Given the description of an element on the screen output the (x, y) to click on. 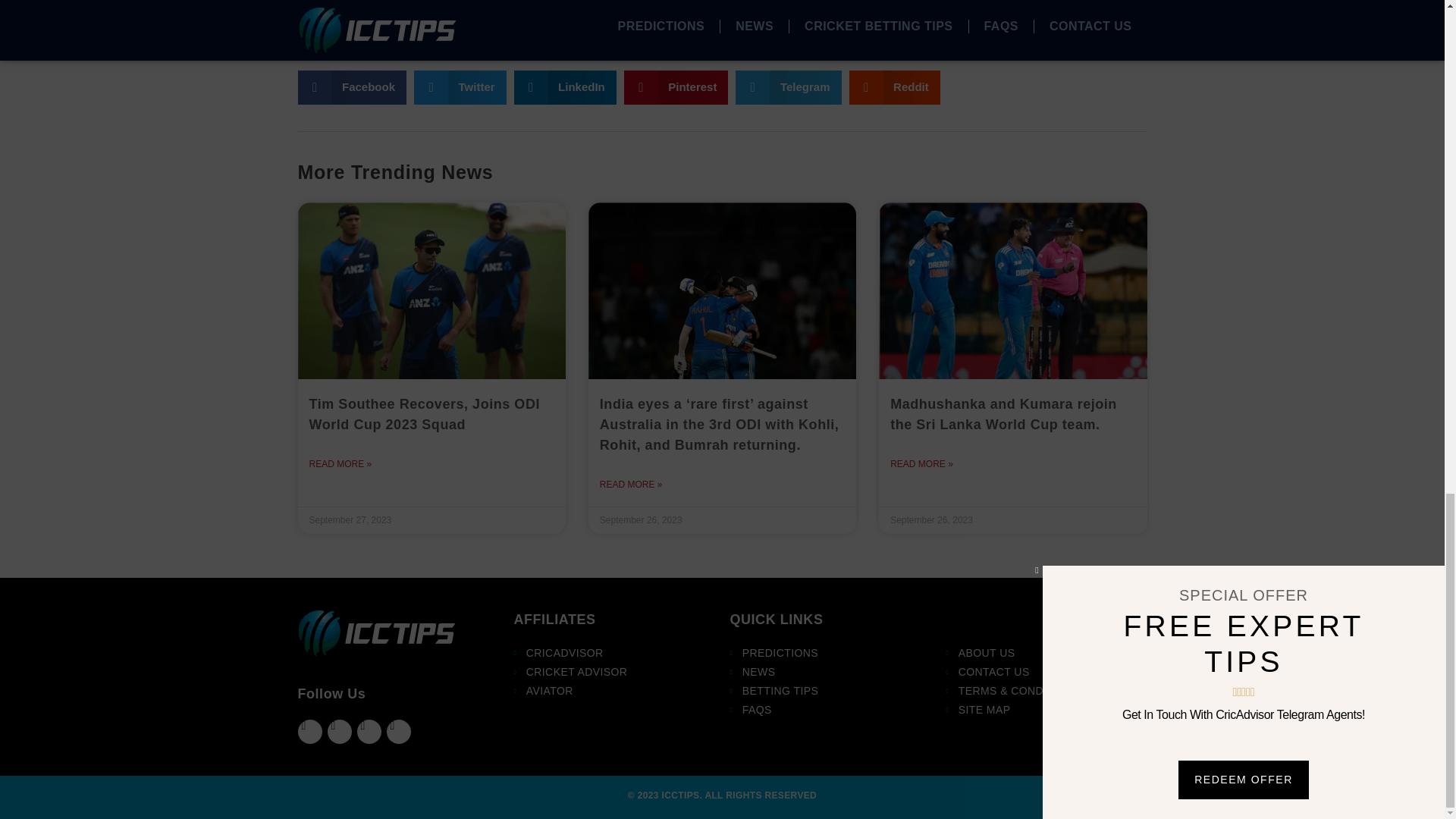
Royal Challengers Bangalore (500, 43)
Tim Southee Recovers, Joins ODI World Cup 2023 Squad (424, 414)
Virat Kohli (614, 43)
IPL auction (384, 43)
IPL 2023 (324, 43)
